Given the description of an element on the screen output the (x, y) to click on. 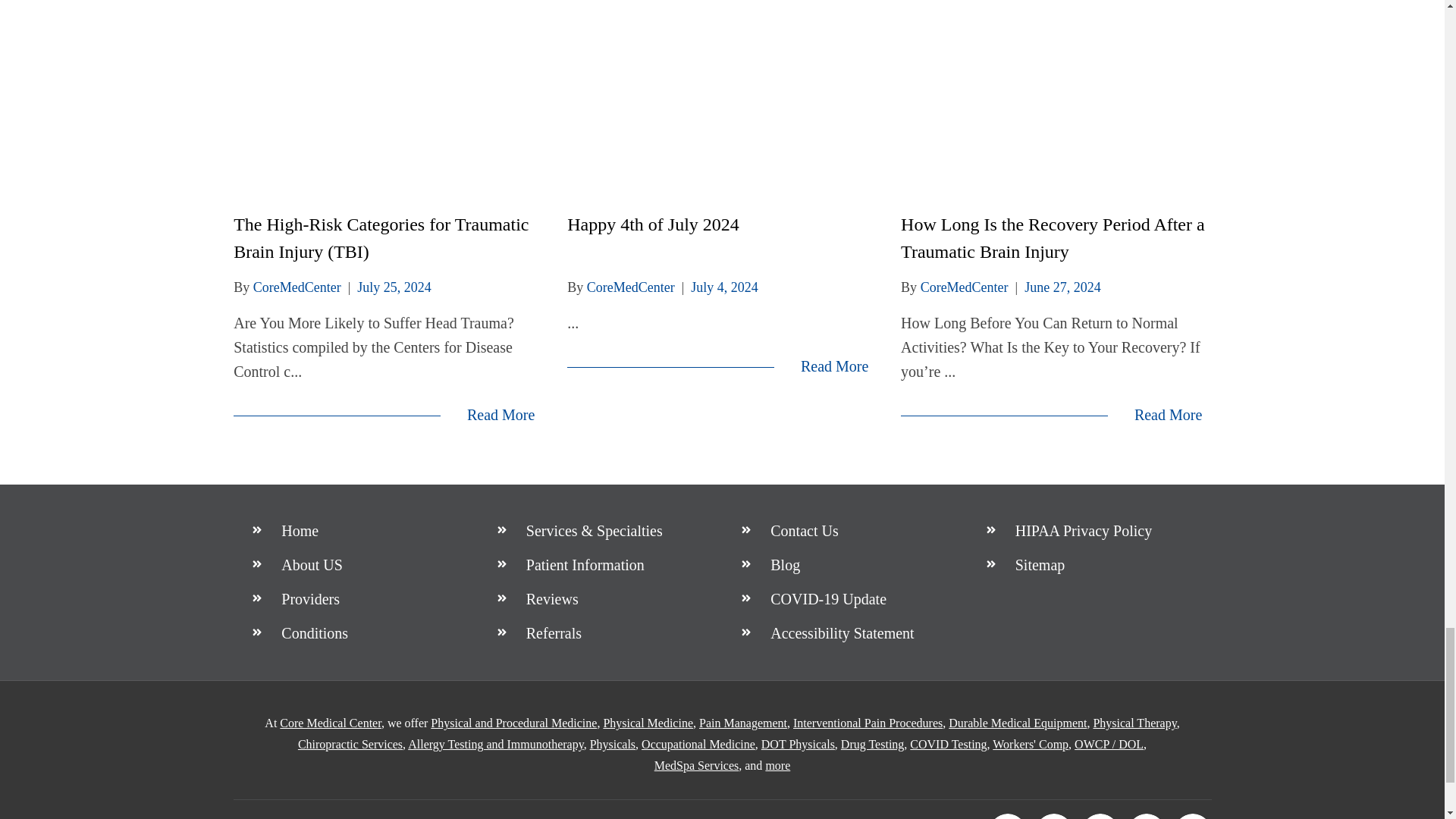
CoreMedCenter (630, 287)
CoreMedCenter (964, 287)
CoreMedCenter (296, 287)
